Given the description of an element on the screen output the (x, y) to click on. 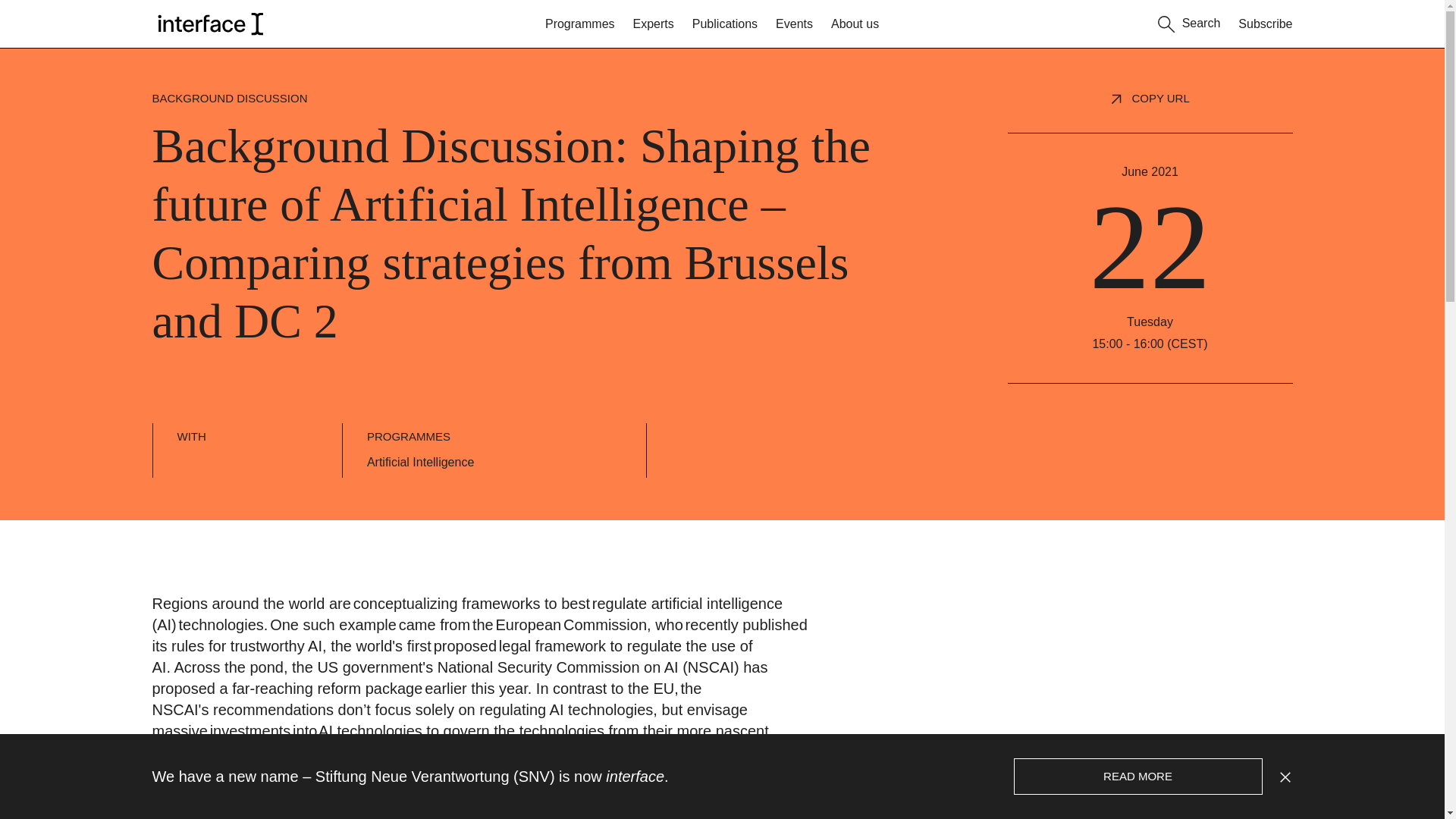
Experts (653, 24)
Events (794, 24)
Artificial Intelligence (420, 462)
READ MORE (1137, 776)
About us (855, 24)
COPY URL (1160, 99)
Search (1189, 21)
Programmes (579, 24)
Subscribe (1265, 24)
Publications (725, 24)
